Given the description of an element on the screen output the (x, y) to click on. 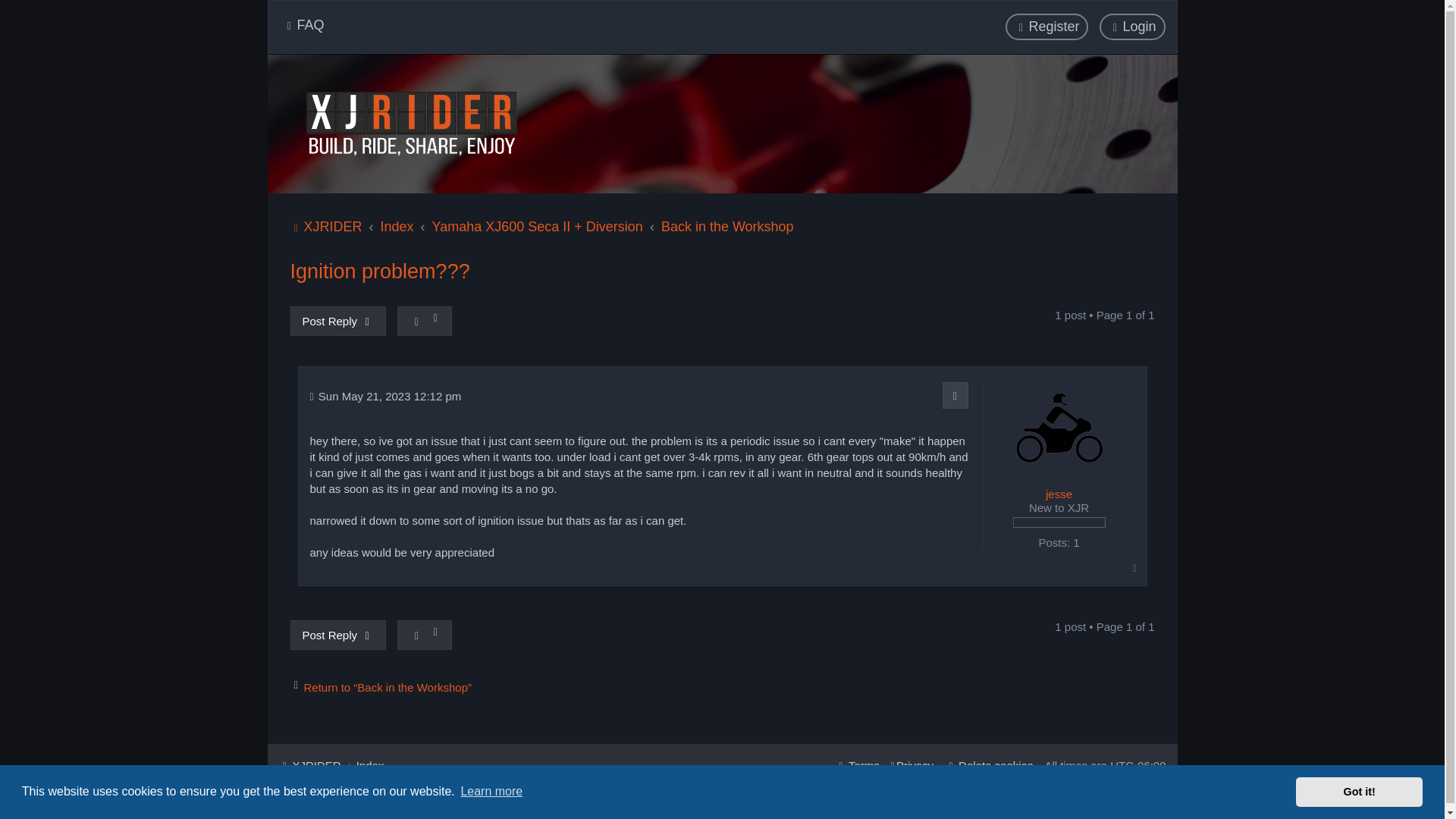
Post Reply (337, 320)
phpBB (358, 805)
XJRIDER (410, 123)
Delete cookies (988, 765)
Frequently Asked Questions (303, 24)
Login (1131, 26)
Got it! (1358, 791)
Post a reply (337, 634)
jesse (1058, 494)
XJRIDER (325, 226)
Index (370, 765)
New to XJR (1059, 521)
Index (396, 226)
XJRIDER (309, 765)
Register (1046, 26)
